Given the description of an element on the screen output the (x, y) to click on. 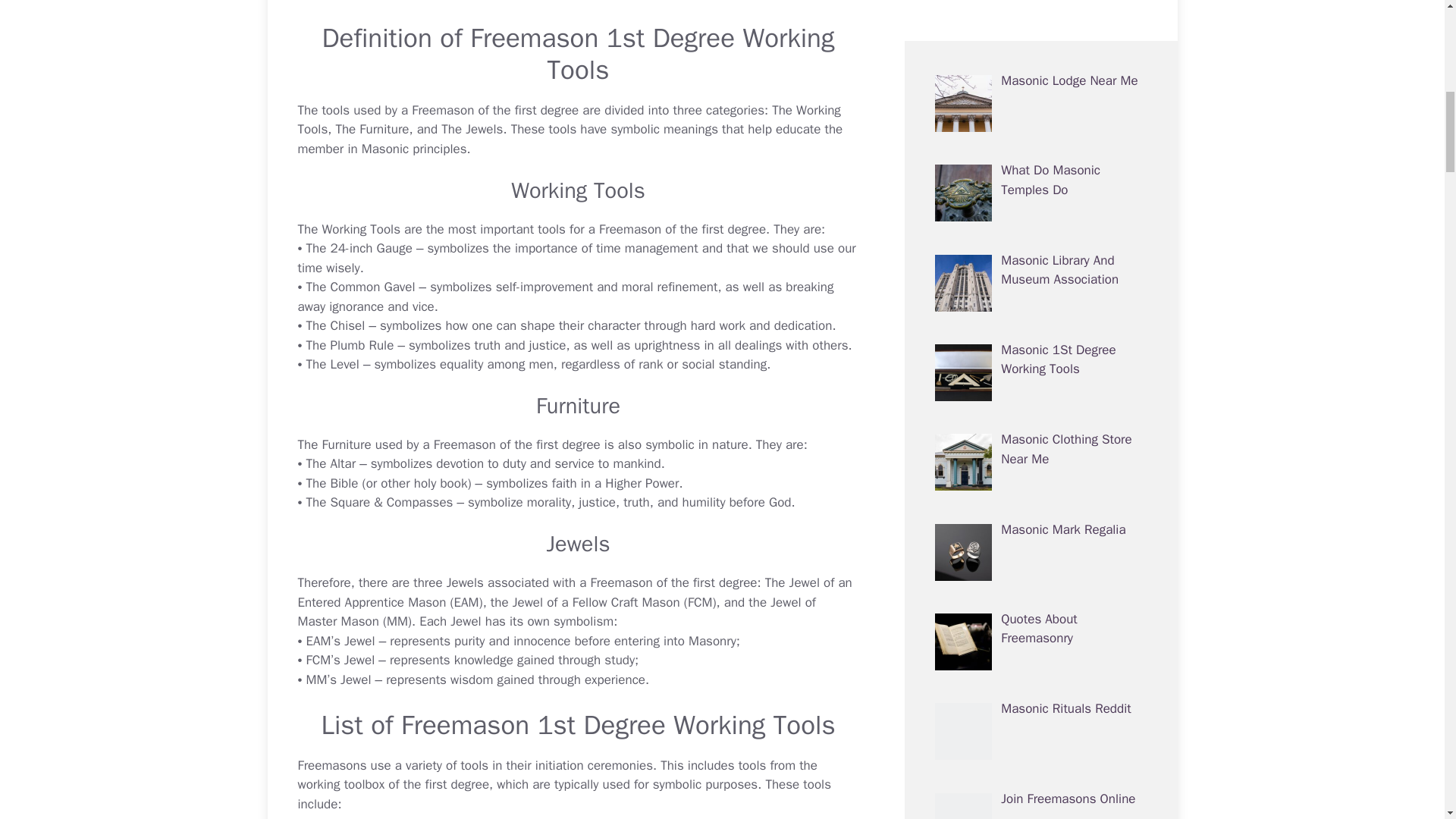
Scroll back to top (1406, 720)
ceremonies (620, 765)
3Rd Degree Freemason Ceremony (620, 765)
Master Mason (337, 621)
Freemason Symbols And Their Meaning (663, 129)
symbolic meanings (663, 129)
